Given the description of an element on the screen output the (x, y) to click on. 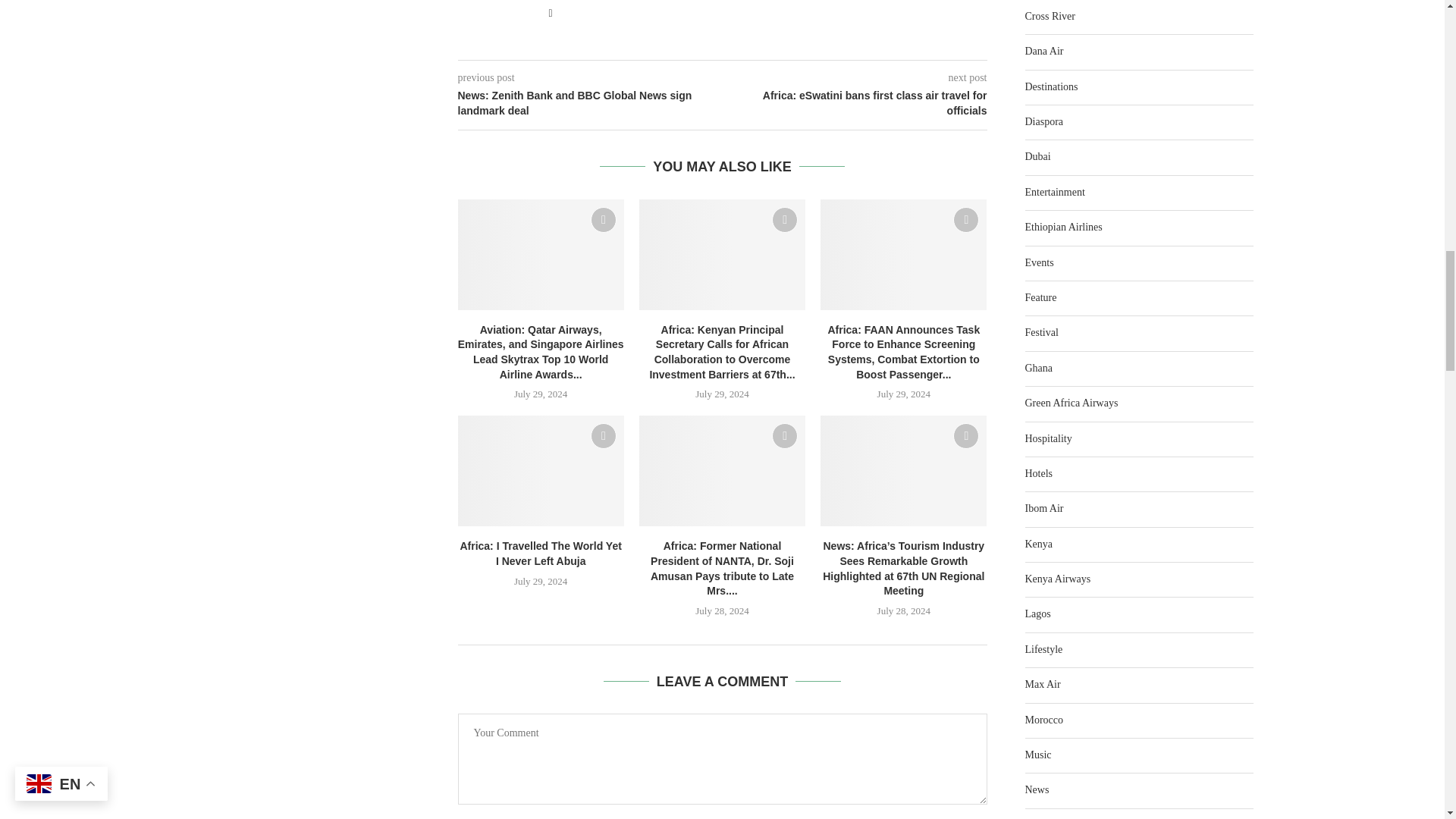
Africa: I Travelled The World Yet I Never Left Abuja (541, 470)
